Given the description of an element on the screen output the (x, y) to click on. 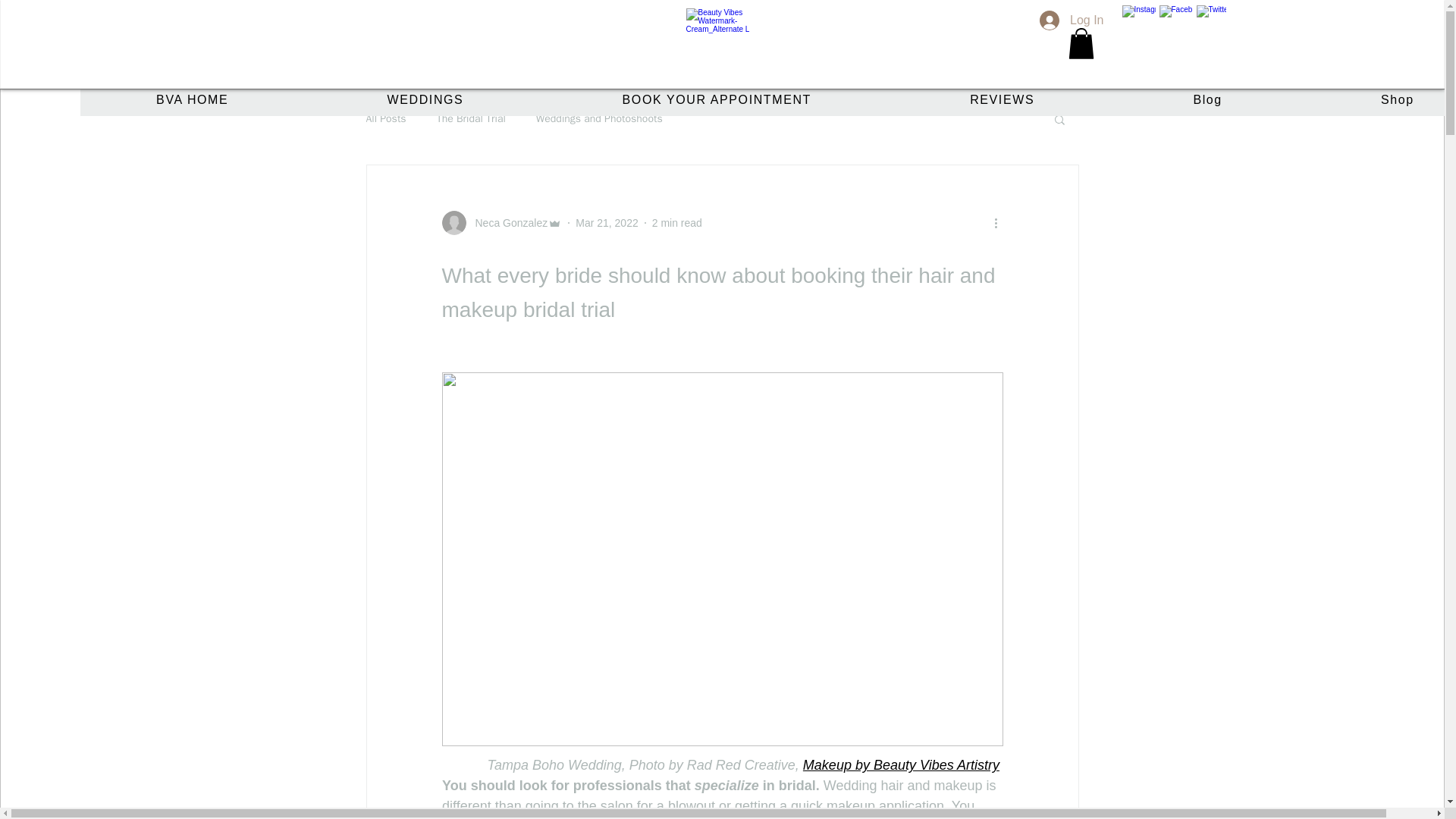
Log In (1071, 20)
The Bridal Trial (470, 119)
Blog (1207, 100)
BOOK YOUR APPOINTMENT (717, 100)
Shop (1380, 100)
Weddings and Photoshoots (598, 119)
Neca Gonzalez (506, 222)
Mar 21, 2022 (607, 223)
2 min read (676, 223)
REVIEWS (1001, 100)
